Given the description of an element on the screen output the (x, y) to click on. 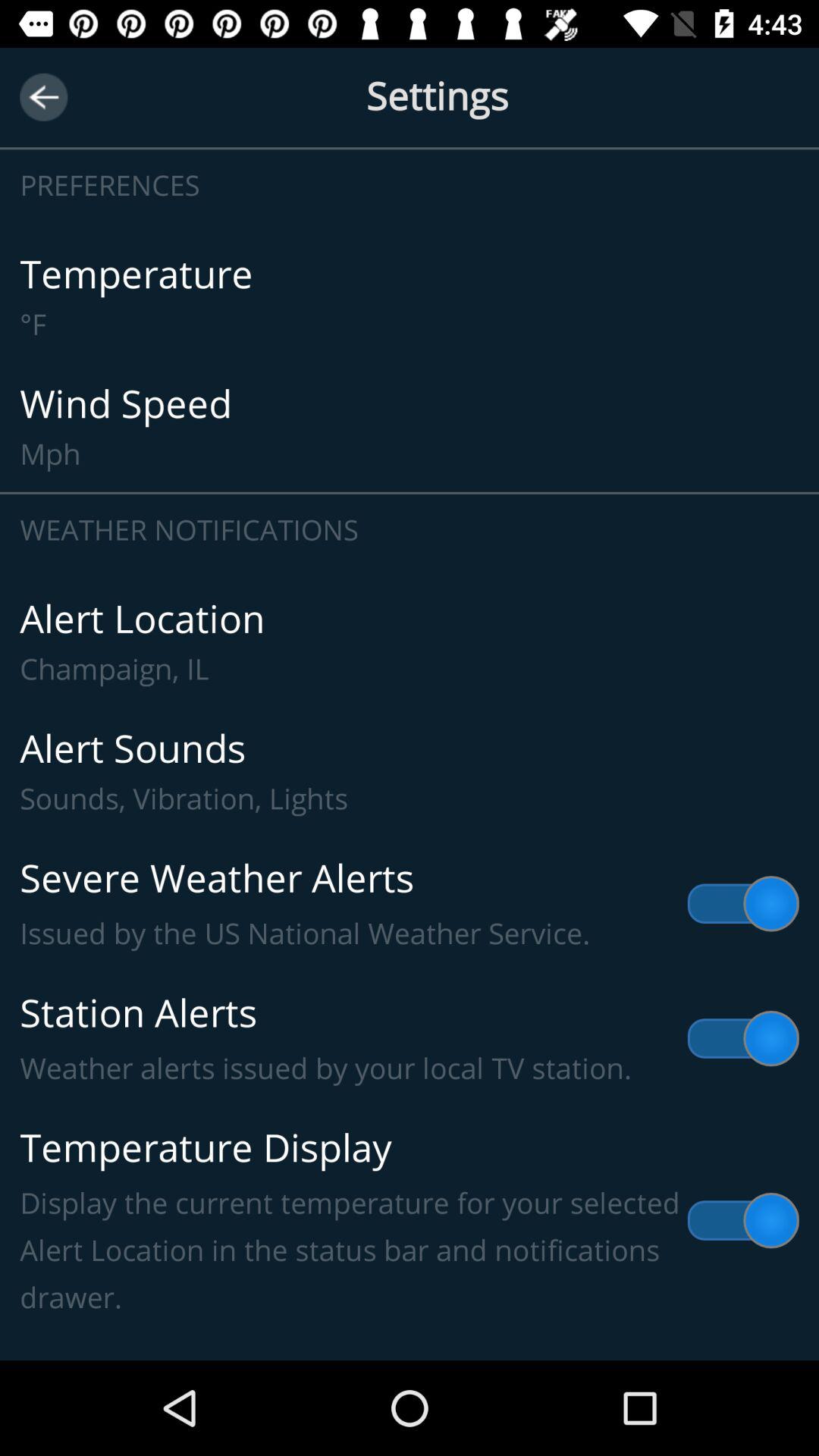
next (43, 97)
